Given the description of an element on the screen output the (x, y) to click on. 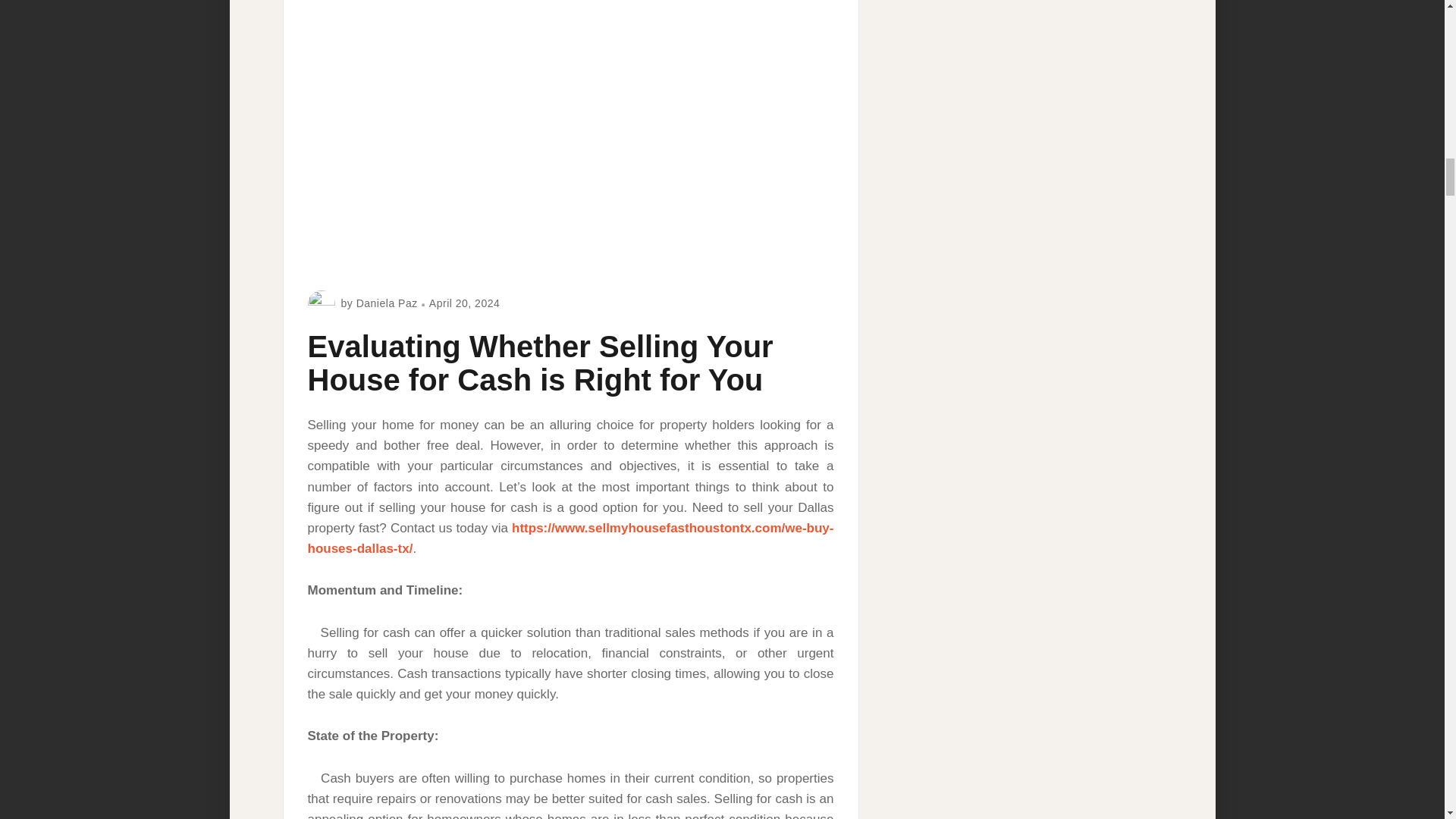
Daniela Paz (386, 303)
April 20, 2024 (464, 303)
